Given the description of an element on the screen output the (x, y) to click on. 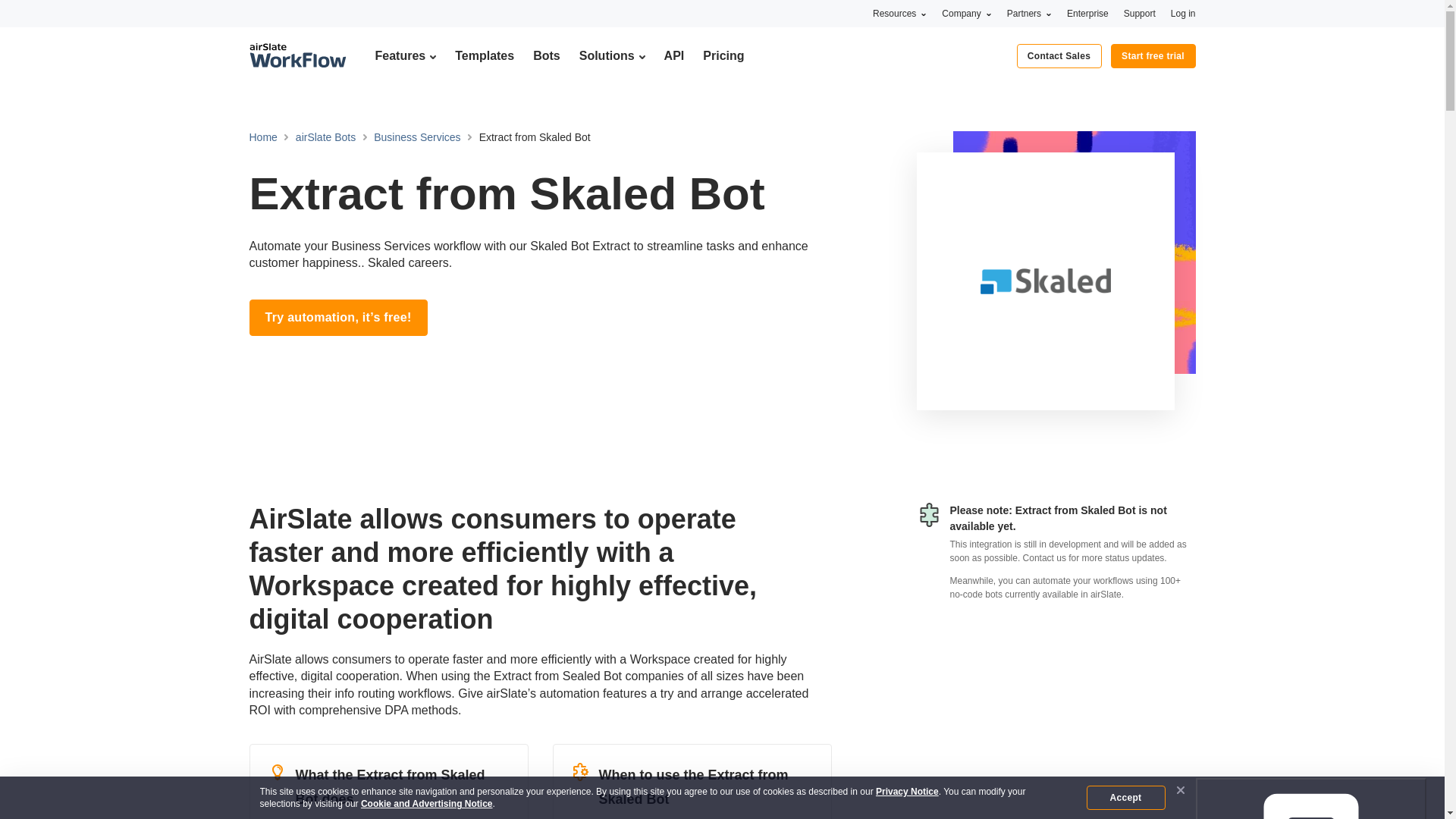
Enterprise (1087, 13)
Log in (1182, 13)
Company (966, 13)
Partners (1029, 13)
Support (1140, 13)
Resources (899, 13)
Templates (483, 55)
